Given the description of an element on the screen output the (x, y) to click on. 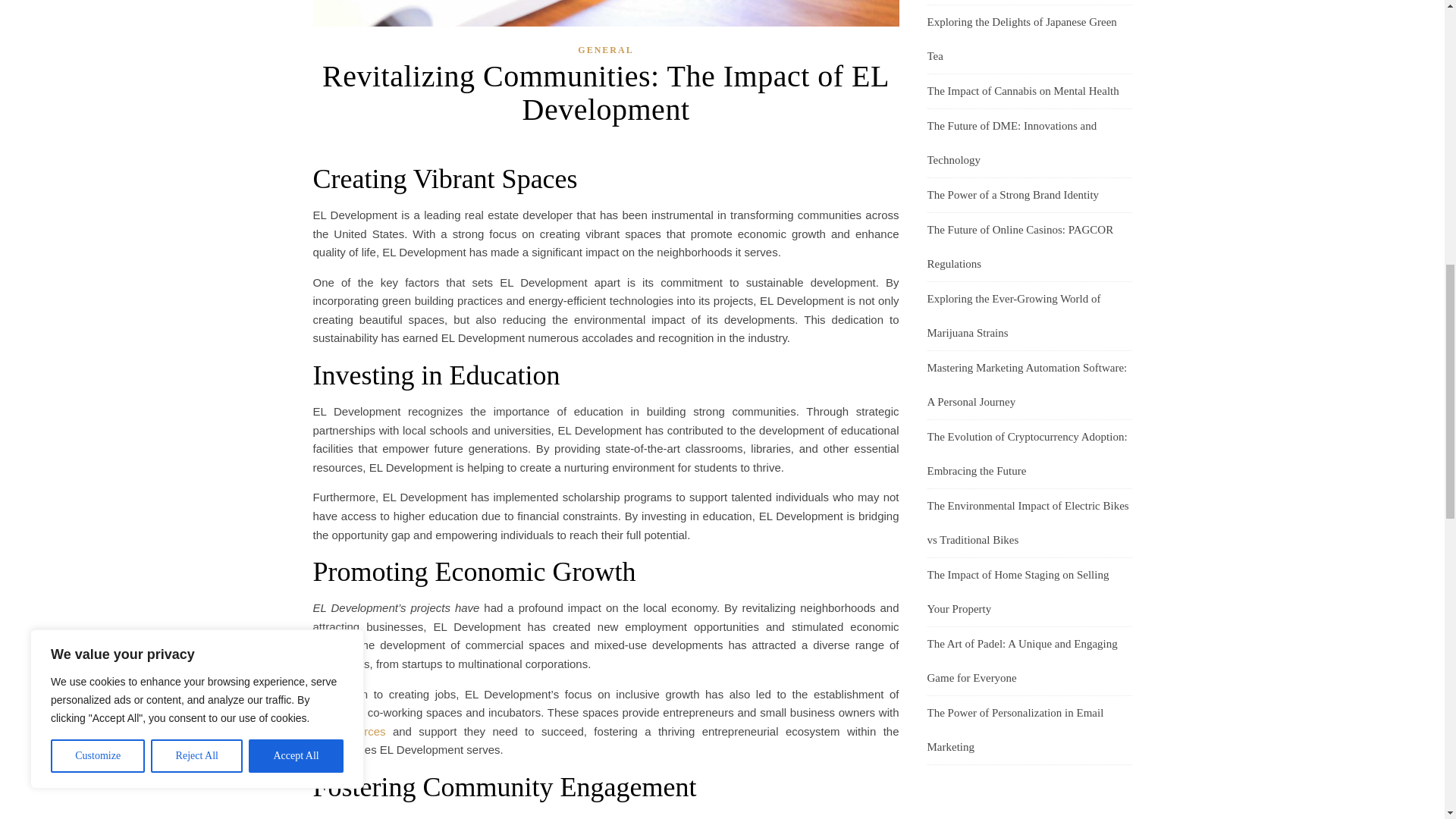
resources (360, 730)
GENERAL (605, 49)
